Given the description of an element on the screen output the (x, y) to click on. 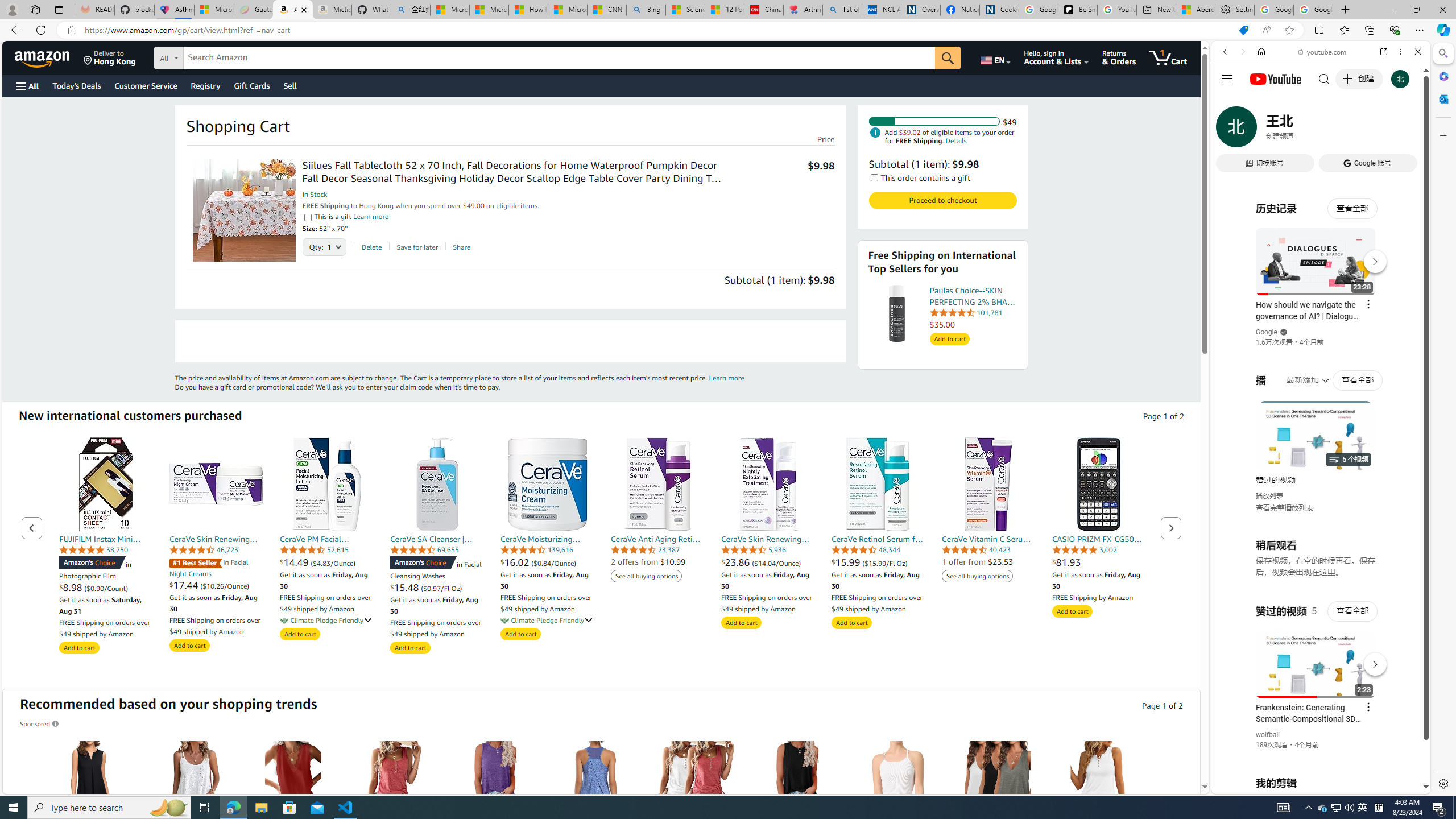
FUJIFILM Instax Mini Contact Sheet Film - 10 Exposures (105, 484)
$17.44  (184, 585)
